Given the description of an element on the screen output the (x, y) to click on. 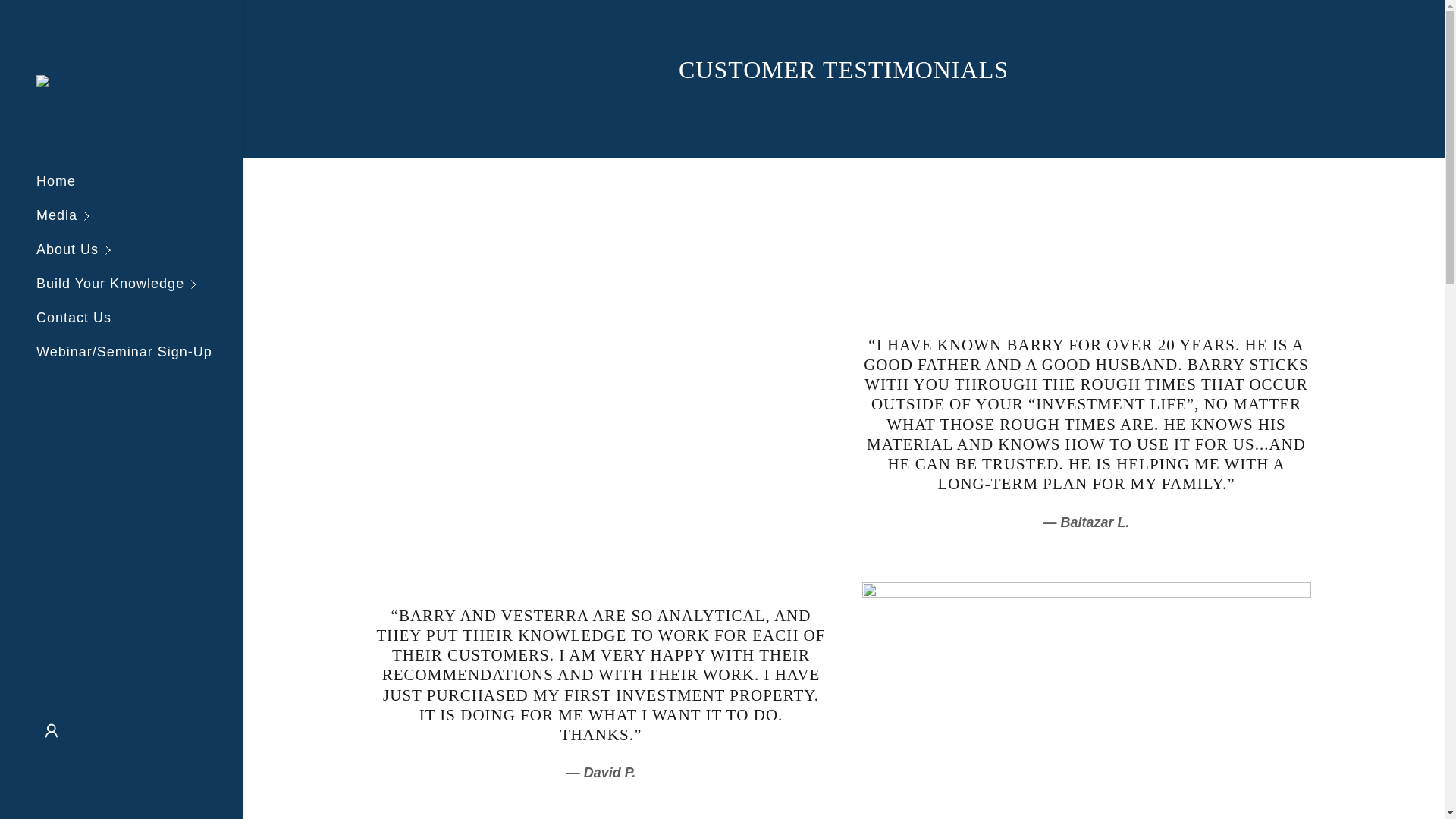
Contact Us (74, 317)
Build Your Knowledge (139, 283)
Home (55, 181)
Media (139, 215)
About Us (139, 249)
